Given the description of an element on the screen output the (x, y) to click on. 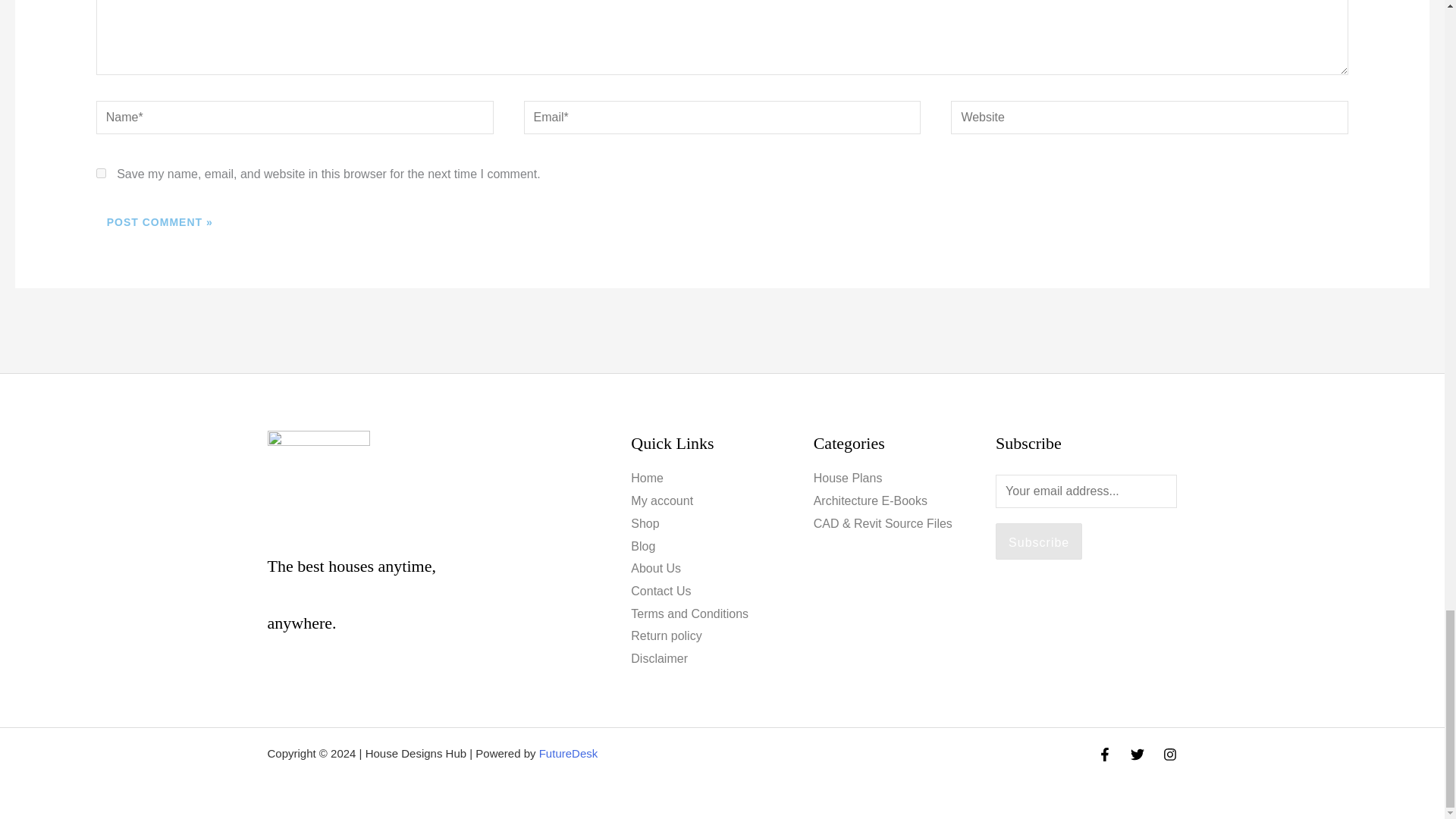
Home (646, 477)
yes (101, 173)
